Given the description of an element on the screen output the (x, y) to click on. 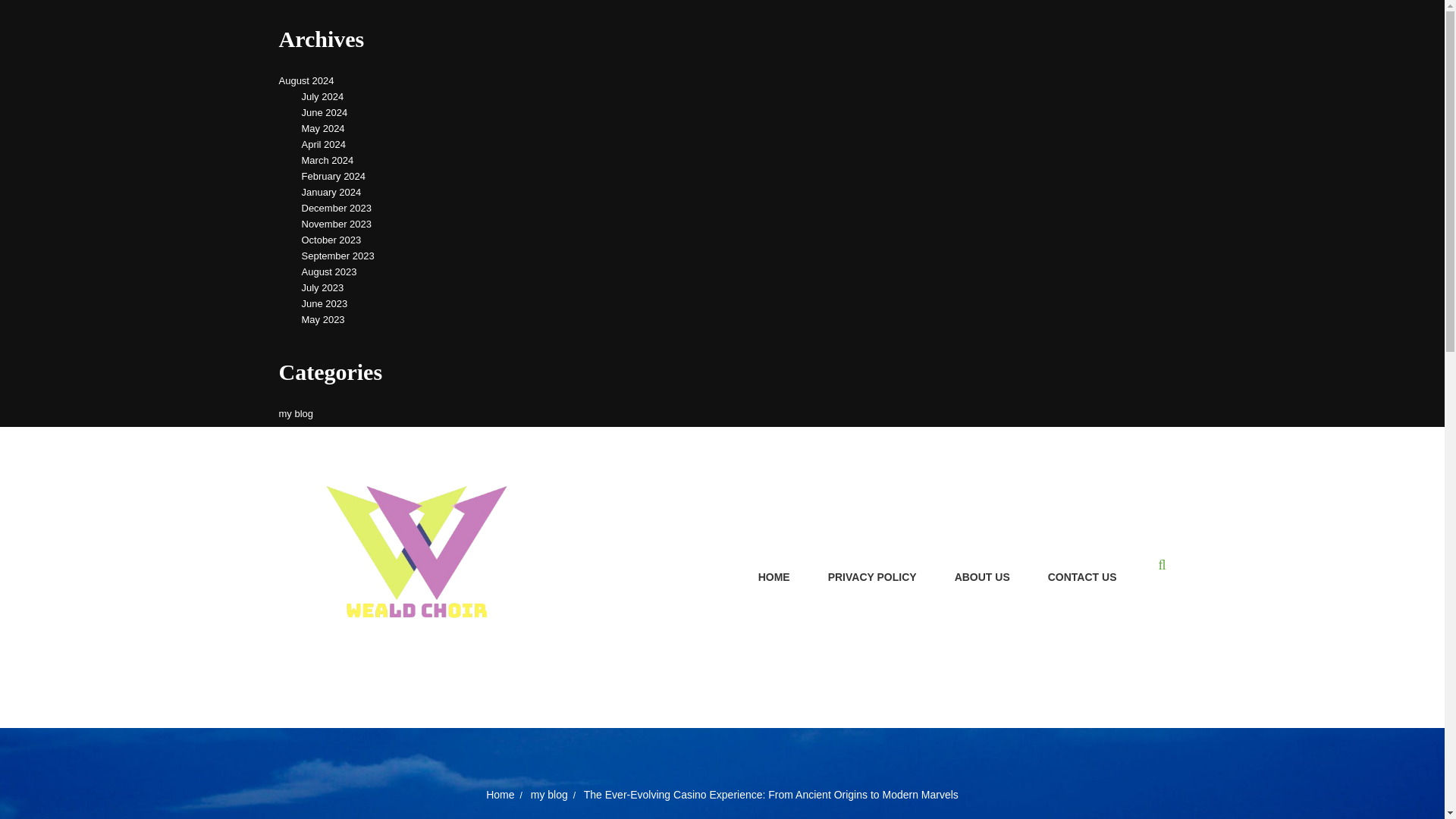
April 2024 (323, 144)
March 2024 (327, 159)
June 2024 (324, 112)
July 2024 (322, 96)
July 2023 (322, 287)
June 2023 (324, 303)
December 2023 (336, 208)
September 2023 (337, 255)
my blog (296, 413)
ABOUT US (982, 577)
